Given the description of an element on the screen output the (x, y) to click on. 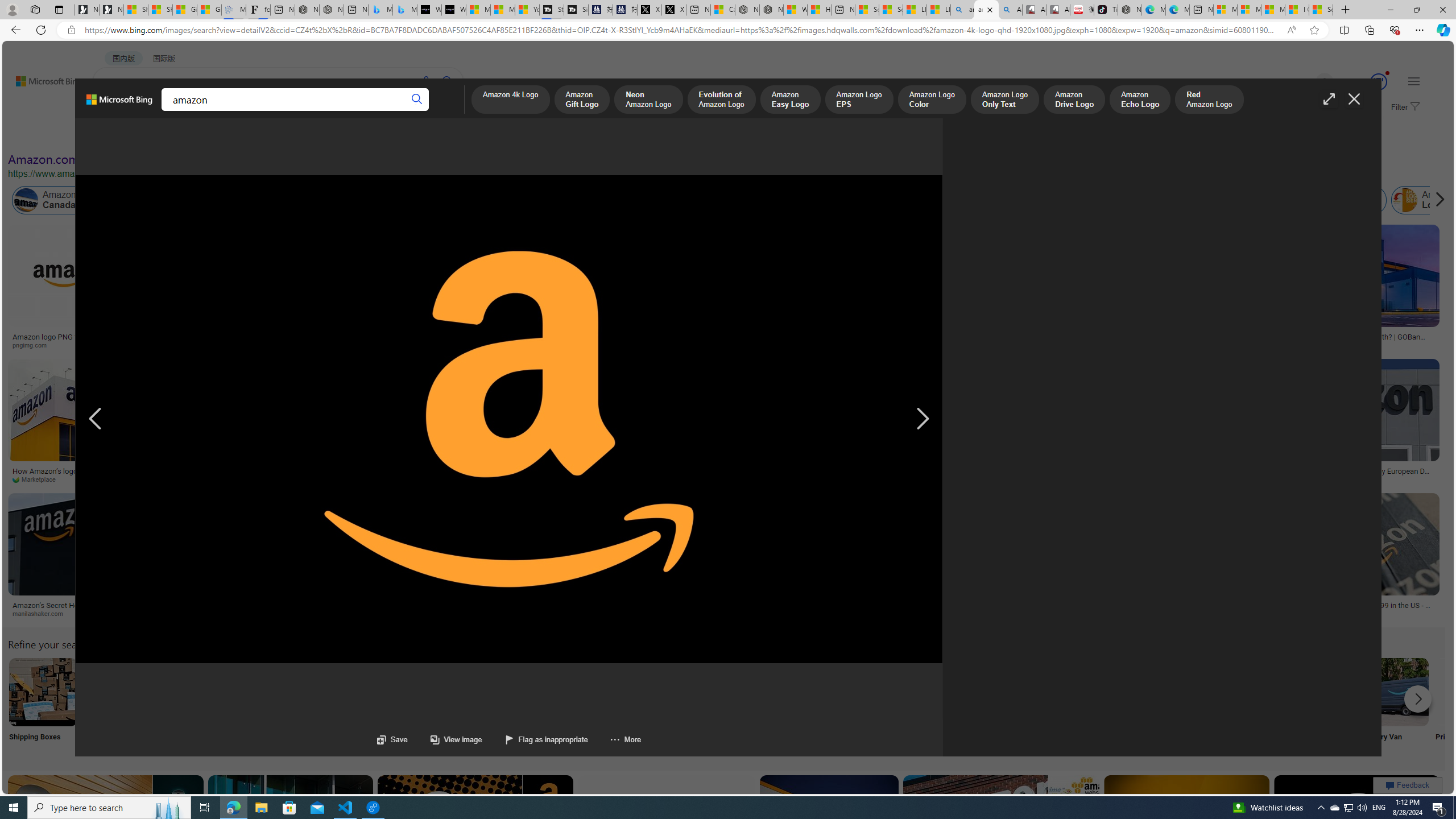
Amazon Visa Card Login (1093, 691)
mobilemarketingmagazine.com (693, 479)
PC World (863, 479)
Amazon Online Store Online Store (644, 706)
How Much Is Amazon's Net Worth? | GOBankingRates (1355, 340)
Streaming Coverage | T3 (551, 9)
Amazon Logo Only Text (1004, 100)
Amazon Jobs Near Me (342, 691)
latimes.com (925, 612)
downdetector.ae (801, 344)
